Given the description of an element on the screen output the (x, y) to click on. 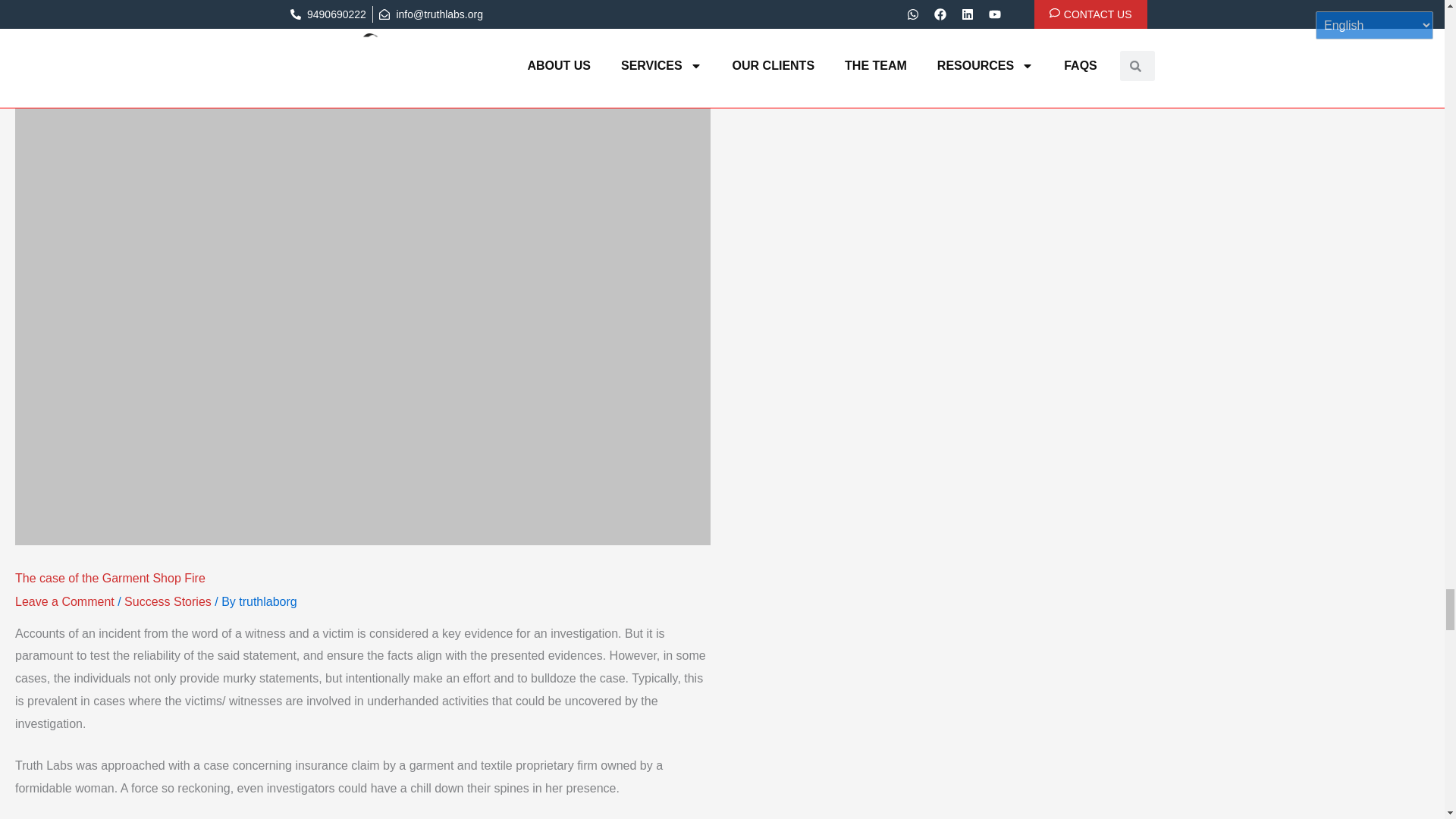
View all posts by truthlaborg (267, 601)
